Given the description of an element on the screen output the (x, y) to click on. 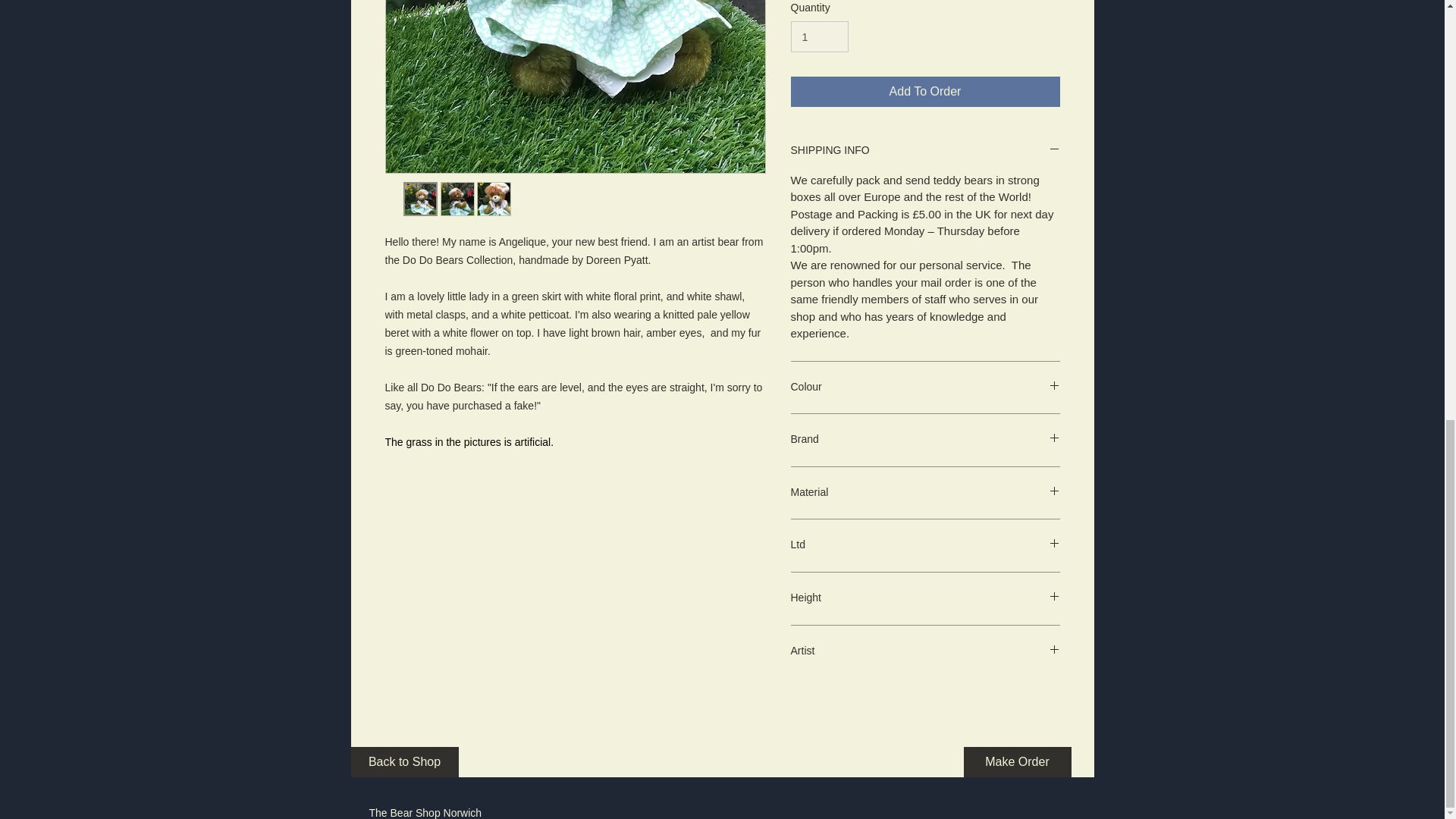
1 (818, 36)
